Given the description of an element on the screen output the (x, y) to click on. 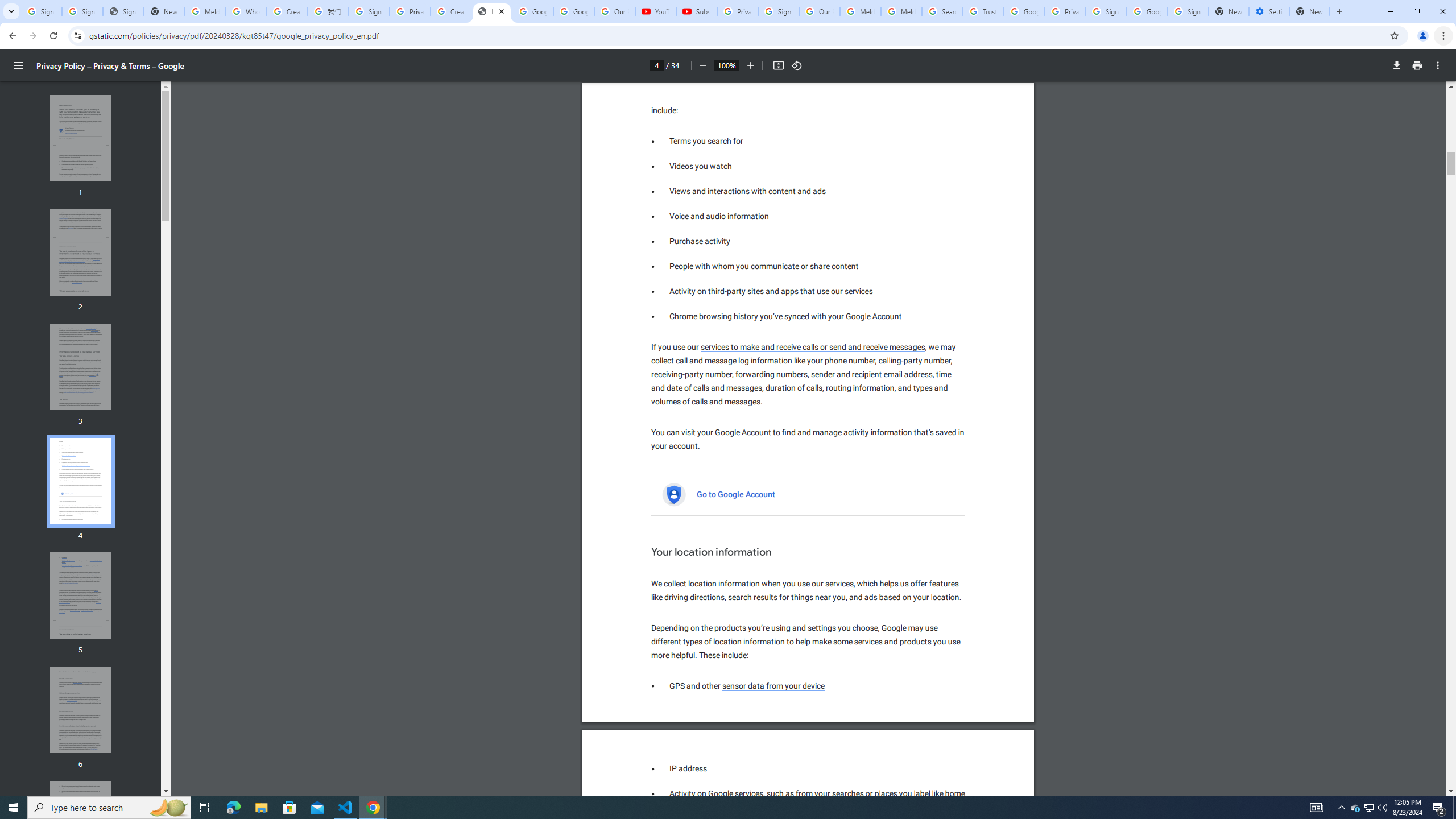
Download (1396, 65)
Activity on third-party sites and apps that use our services (771, 291)
Close (501, 11)
Restore (1416, 11)
Sign In - USA TODAY (122, 11)
Views and interactions with content and ads (748, 191)
Fit to page (777, 65)
Sign in - Google Accounts (777, 11)
New Tab (1338, 11)
Thumbnail for page 4 (80, 481)
Address and search bar (735, 35)
Go to Google Account (736, 494)
Zoom level (726, 64)
